Given the description of an element on the screen output the (x, y) to click on. 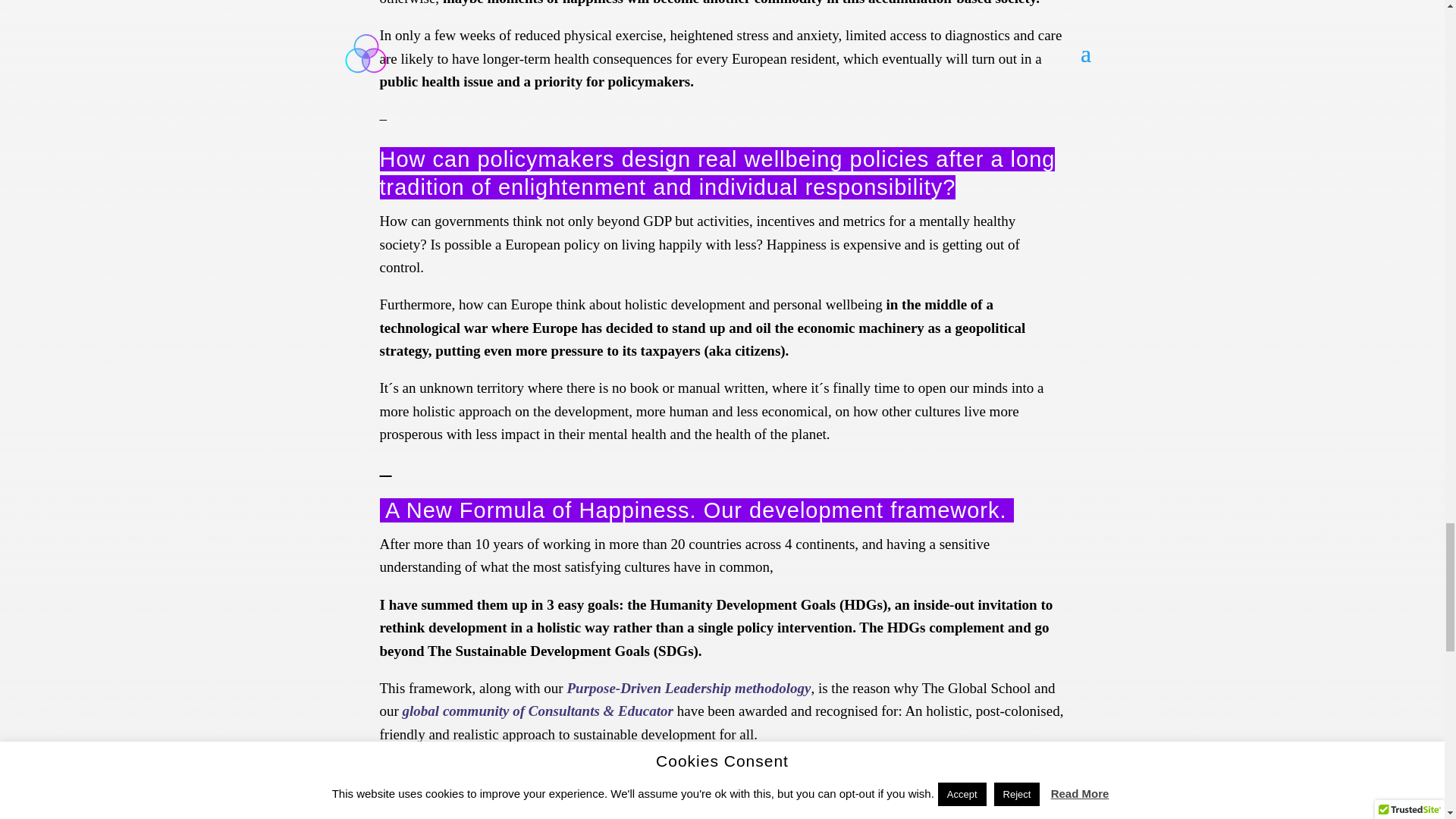
Purpose-Driven Leadership methodology (688, 688)
